Given the description of an element on the screen output the (x, y) to click on. 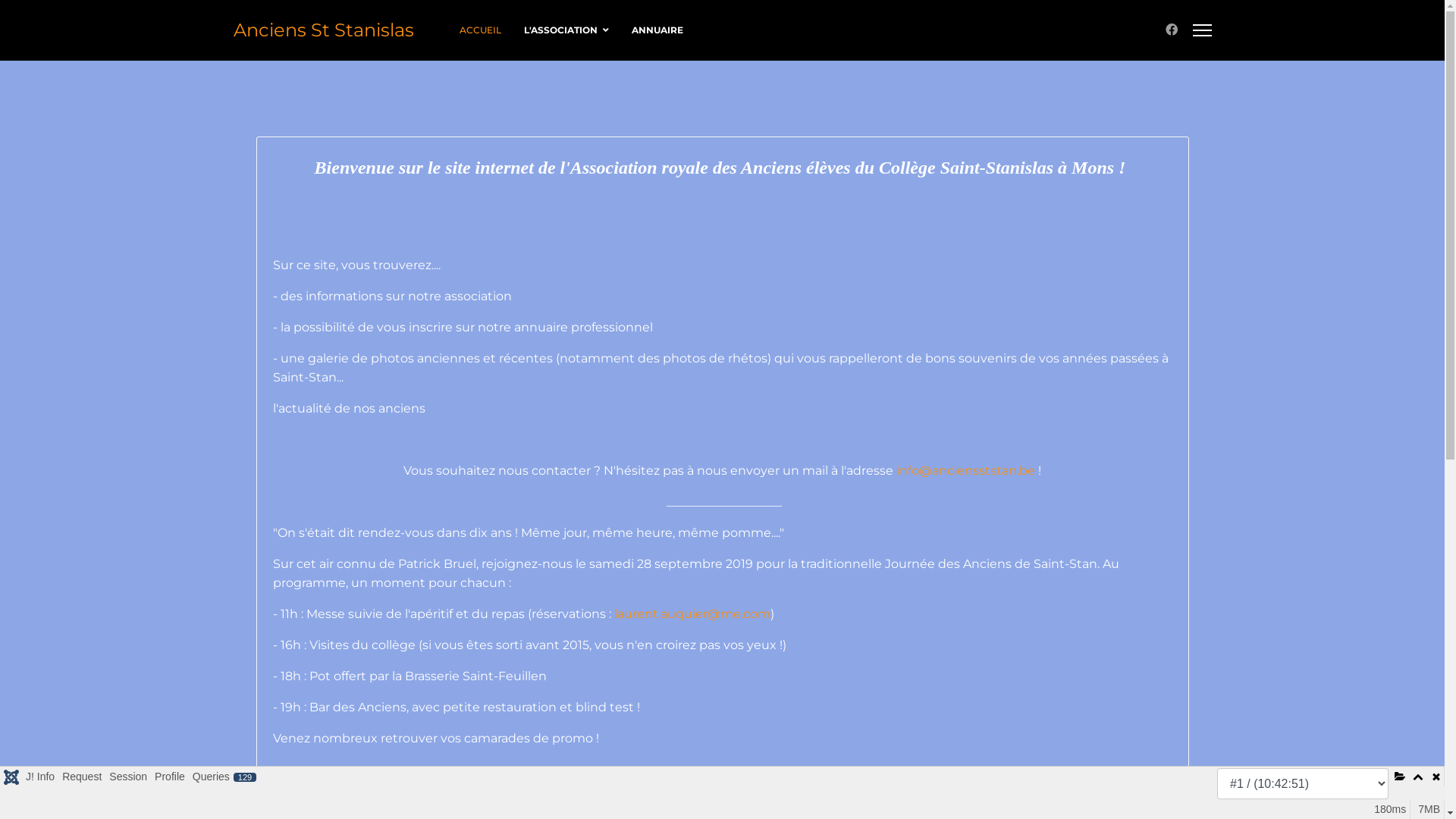
Session Element type: text (127, 776)
Request Element type: text (81, 776)
info@anciensststan.be Element type: text (965, 470)
ANNUAIRE Element type: text (651, 30)
laurent.auquier@me.com Element type: text (692, 613)
Profile Element type: text (169, 776)
J! Info Element type: text (39, 776)
Queries129 Element type: text (224, 776)
Menu Element type: hover (1201, 30)
ACCUEIL Element type: text (479, 30)
Anciens St Stanislas Element type: text (323, 30)
